Given the description of an element on the screen output the (x, y) to click on. 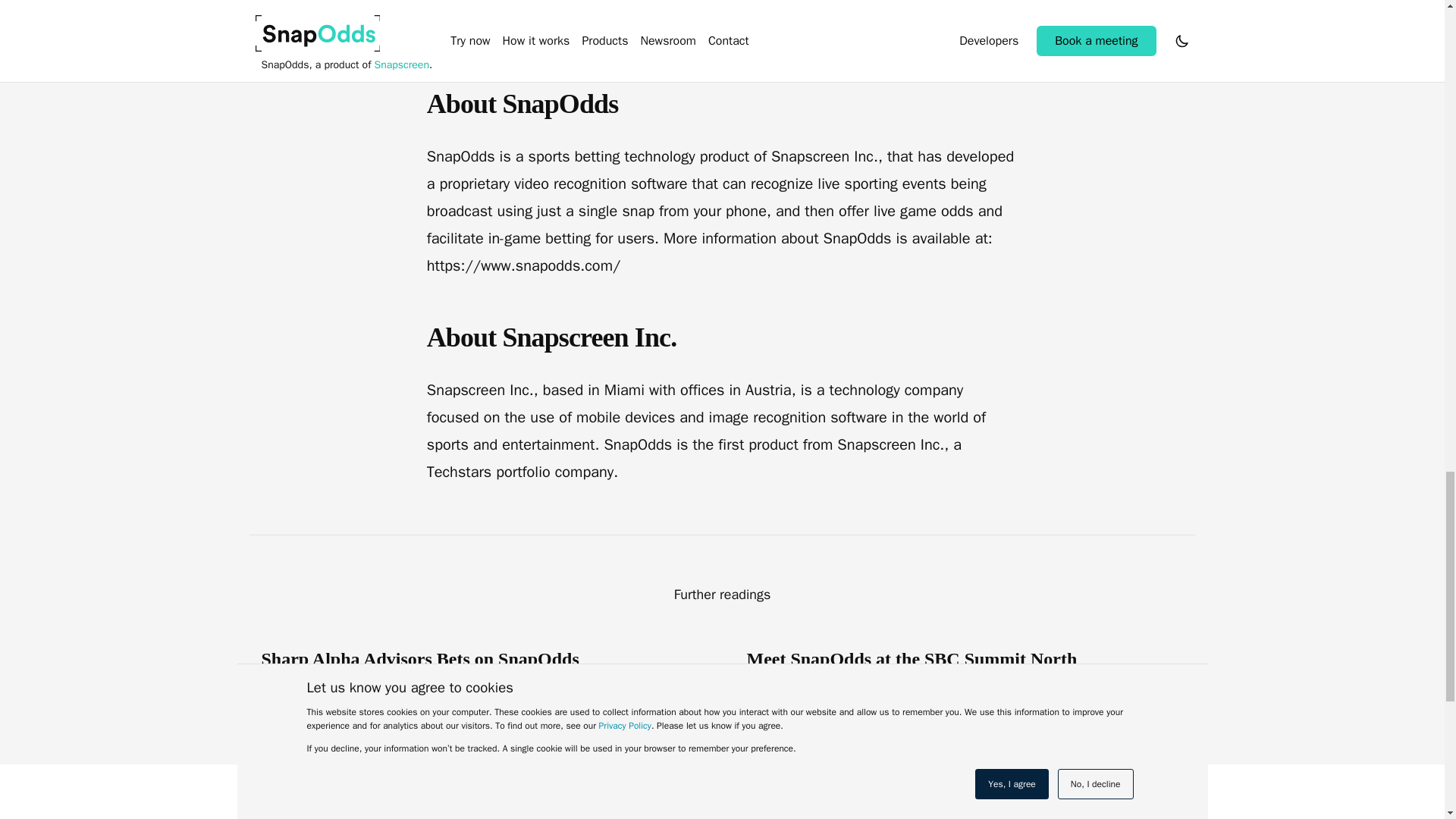
Sharp Alpha Advisors Bets on SnapOdds (441, 658)
HERE (683, 32)
Meet SnapOdds at the SBC Summit North America (926, 669)
Read more (672, 697)
Read more (1157, 719)
SnapOdds (328, 816)
